Given the description of an element on the screen output the (x, y) to click on. 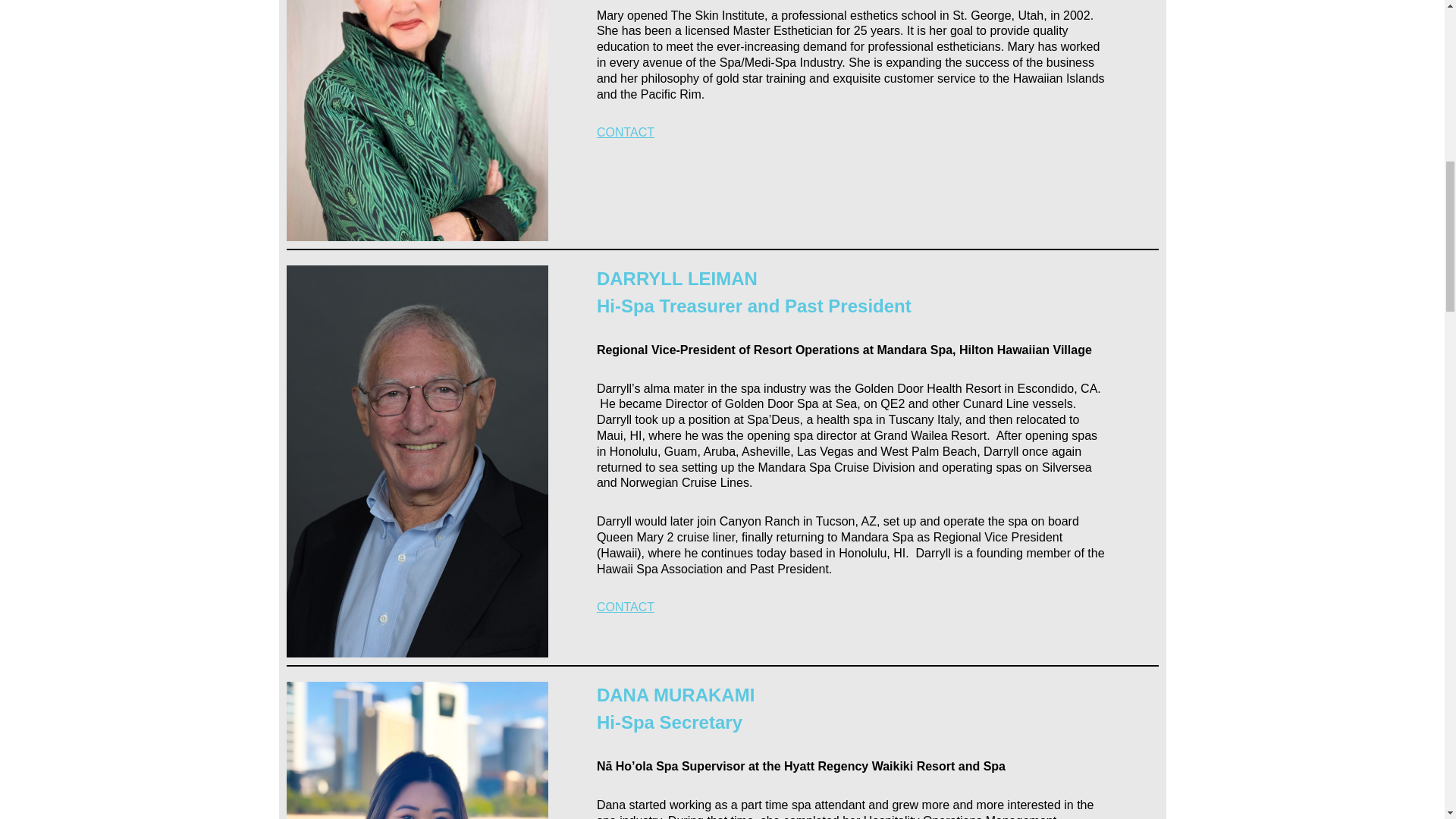
CONTACT (624, 606)
CONTACT (624, 132)
